Given the description of an element on the screen output the (x, y) to click on. 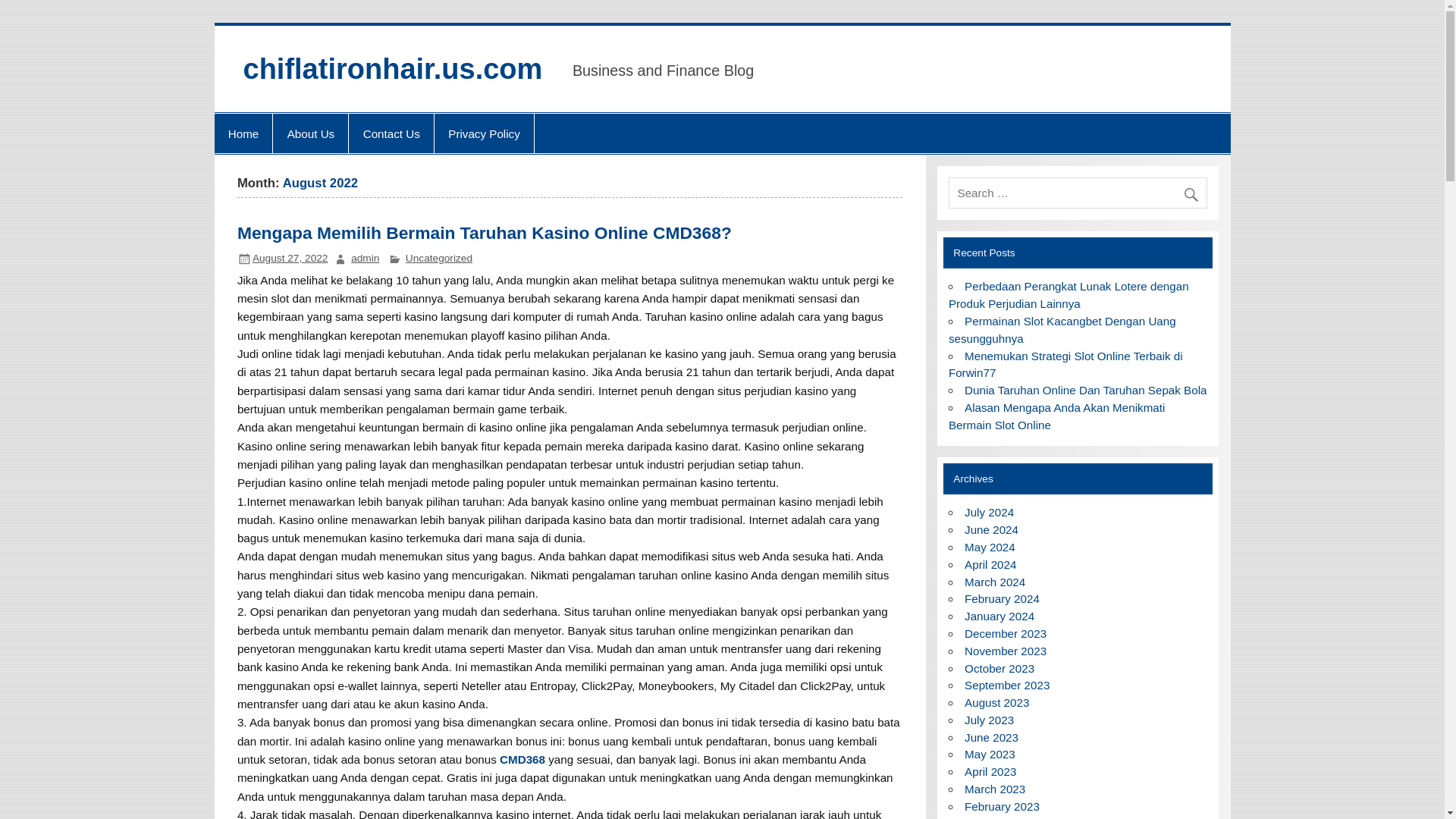
About Us (310, 133)
CMD368 (521, 758)
chiflatironhair.us.com (392, 69)
Mengapa Memilih Bermain Taruhan Kasino Online CMD368? (484, 232)
4:04 am (290, 257)
Uncategorized (438, 257)
admin (364, 257)
Home (243, 133)
View all posts by admin (364, 257)
August 27, 2022 (290, 257)
Privacy Policy (483, 133)
Contact Us (391, 133)
